Given the description of an element on the screen output the (x, y) to click on. 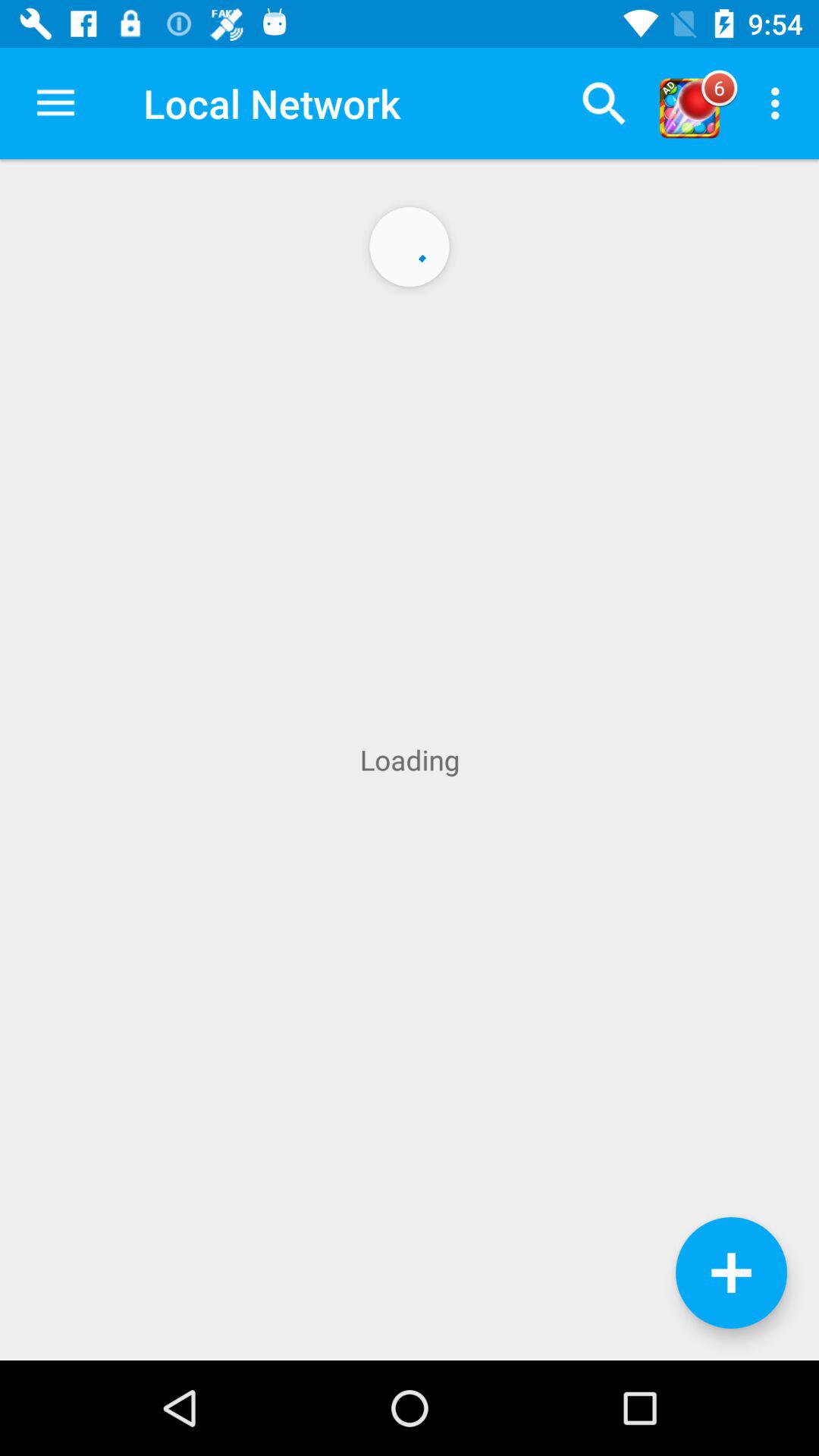
tap the icon next to 6 item (779, 103)
